Given the description of an element on the screen output the (x, y) to click on. 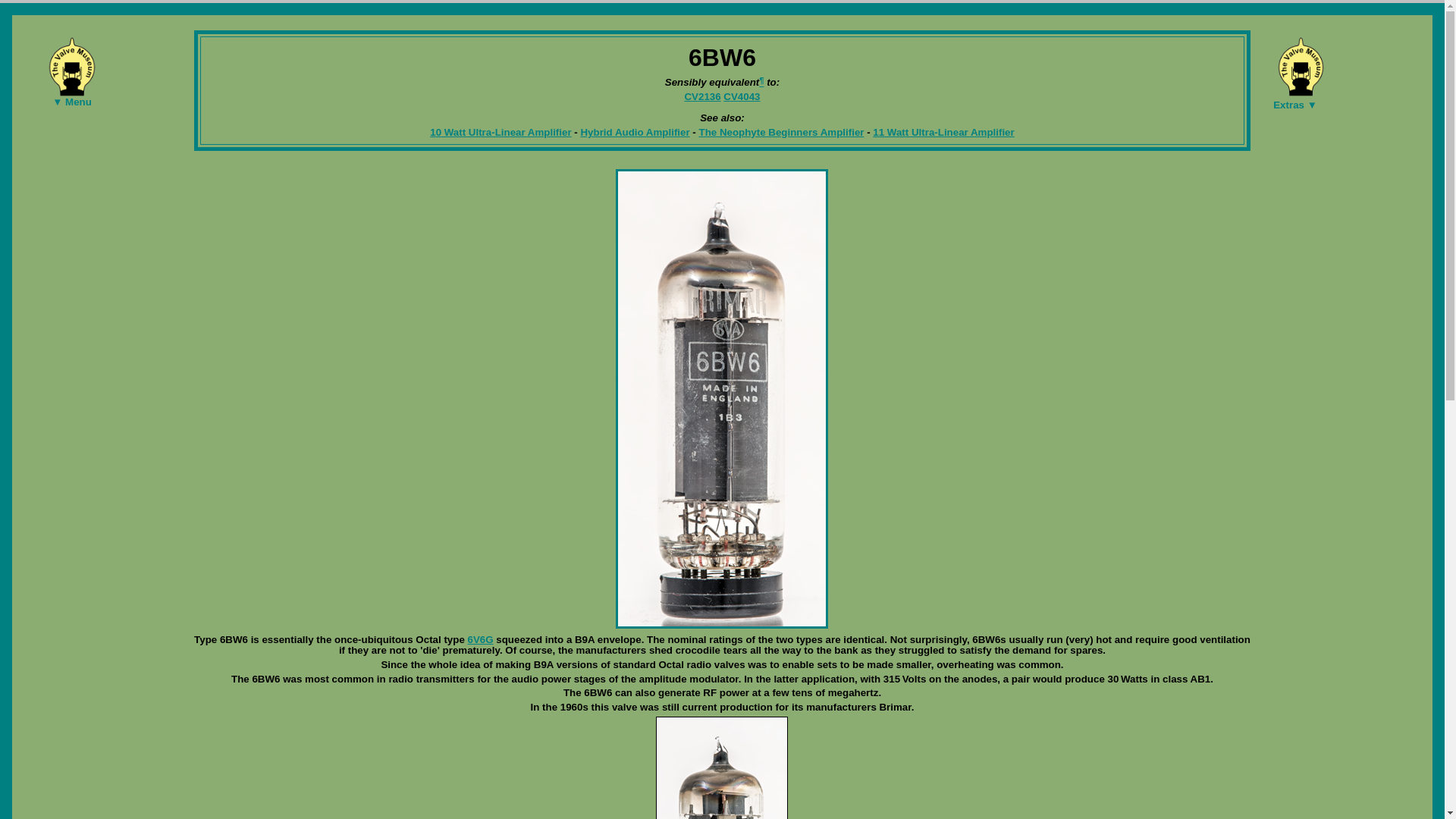
11 Watt Ultra-Linear Amplifier (942, 132)
10 Watt Ultra-Linear Amplifier (499, 132)
Hybrid Audio Amplifier (633, 132)
CV2136 (702, 96)
6V6G (480, 639)
The Neophyte Beginners Amplifier (781, 132)
CV4043 (741, 96)
